Given the description of an element on the screen output the (x, y) to click on. 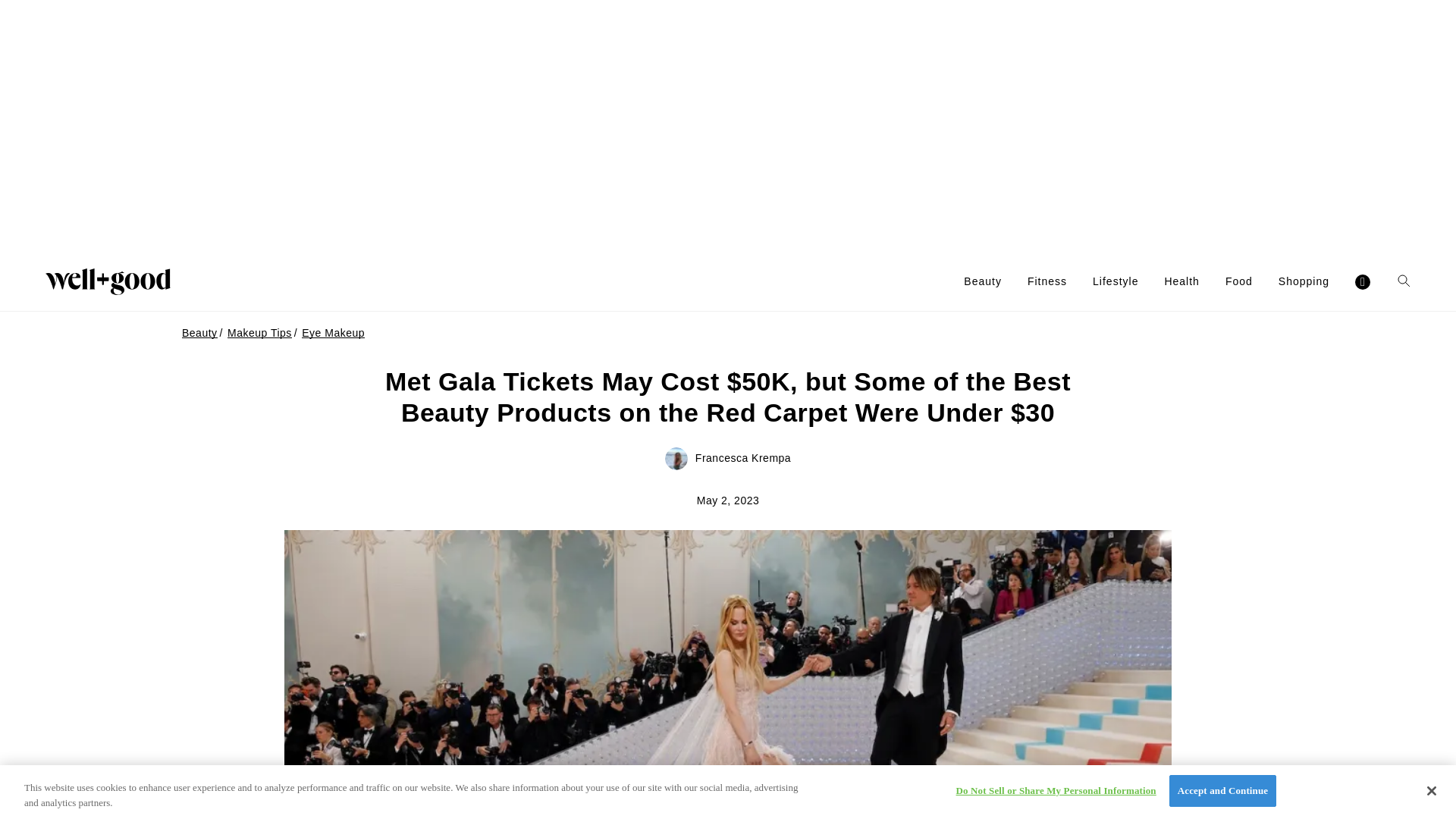
Beauty (982, 281)
Shopping (1303, 281)
Food (1238, 281)
Health (1180, 281)
Lifestyle (1115, 281)
Fitness (1047, 281)
